Given the description of an element on the screen output the (x, y) to click on. 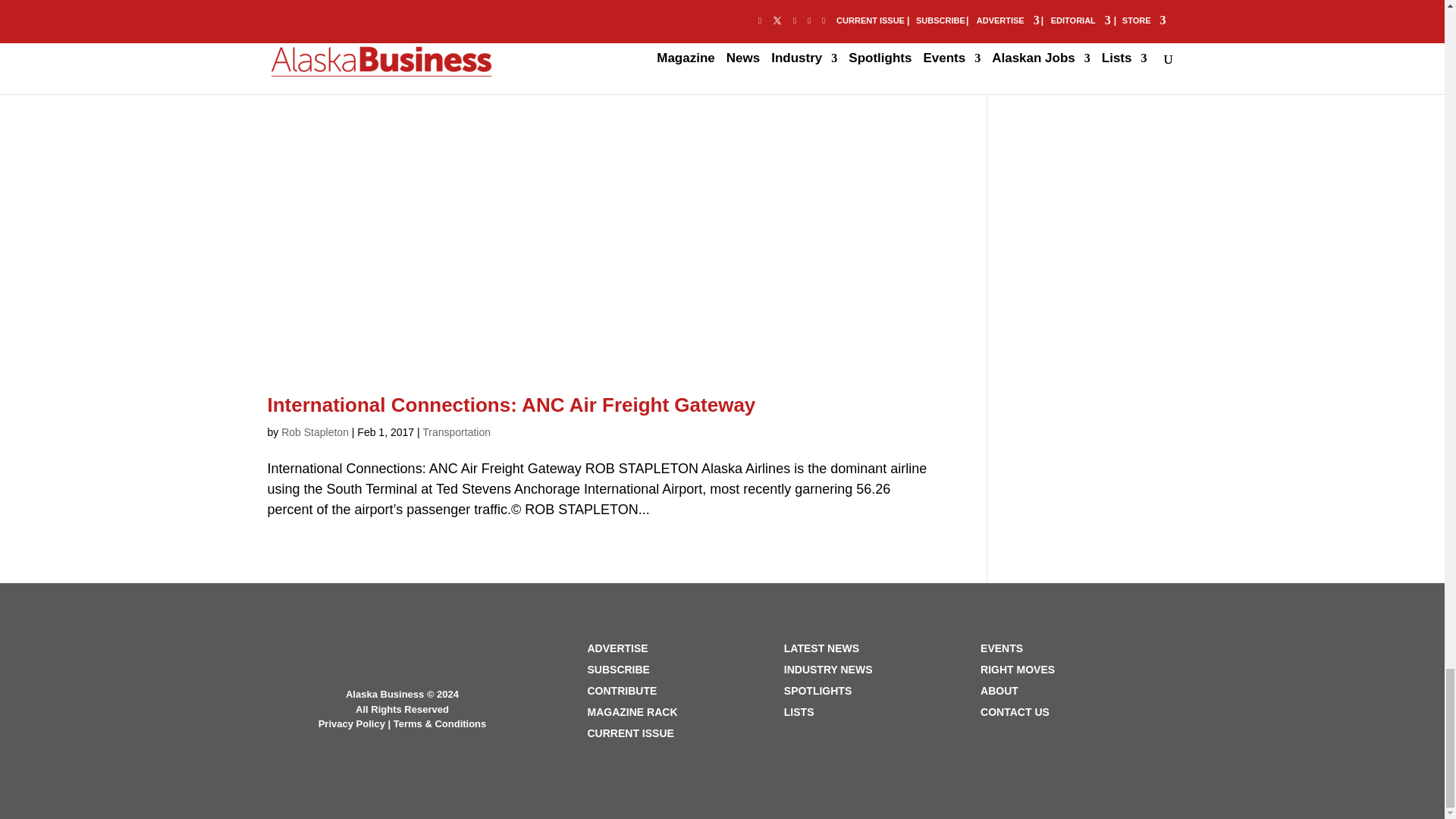
Posts by Rob Stapleton (315, 431)
